Given the description of an element on the screen output the (x, y) to click on. 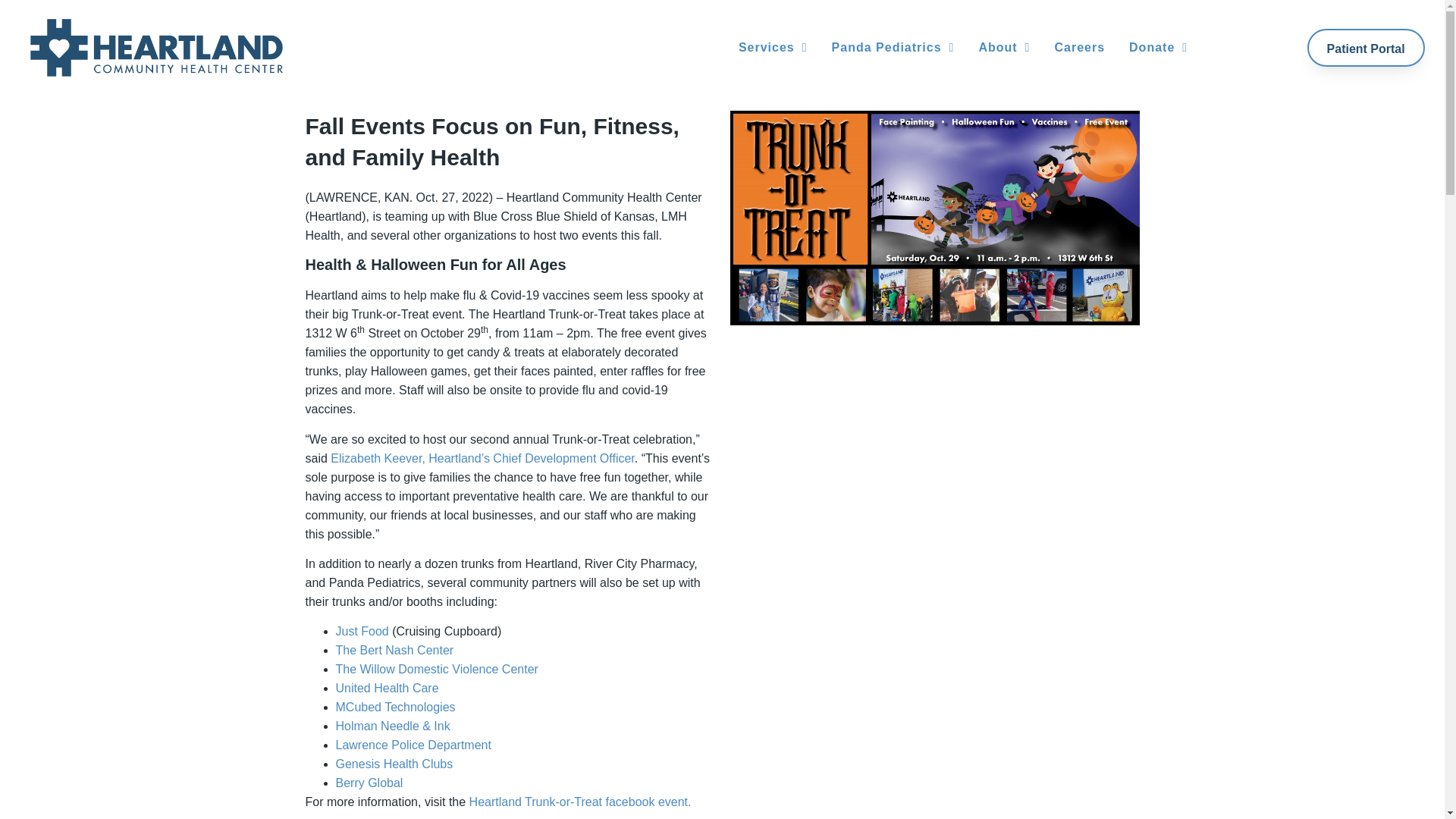
Donate (1157, 47)
Careers (1079, 47)
About (1004, 47)
Services (772, 47)
Panda Pediatrics (892, 47)
